Given the description of an element on the screen output the (x, y) to click on. 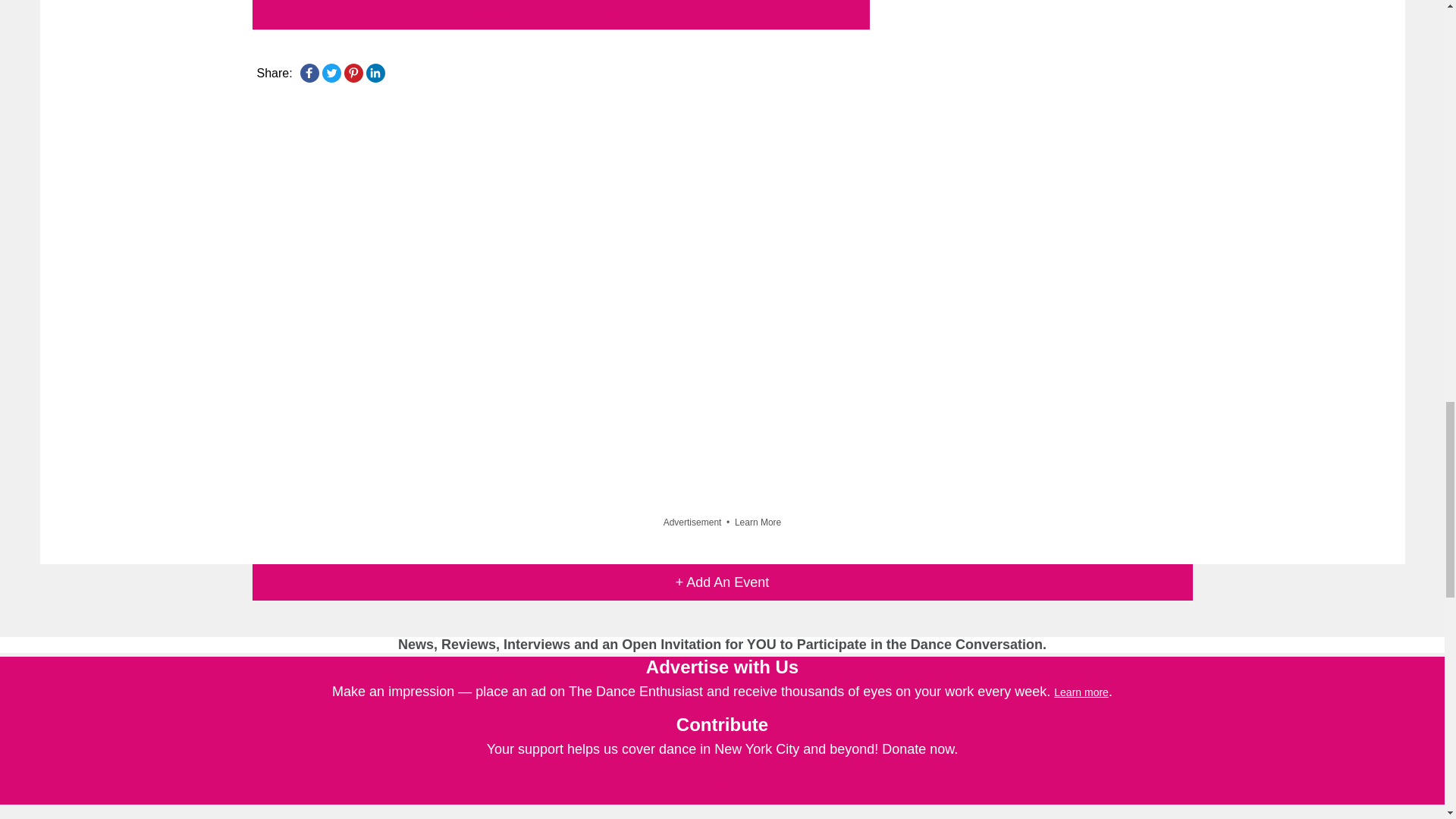
LinkedIn (375, 72)
Twitter (331, 72)
Pinterest (353, 72)
Facebook (309, 72)
